Given the description of an element on the screen output the (x, y) to click on. 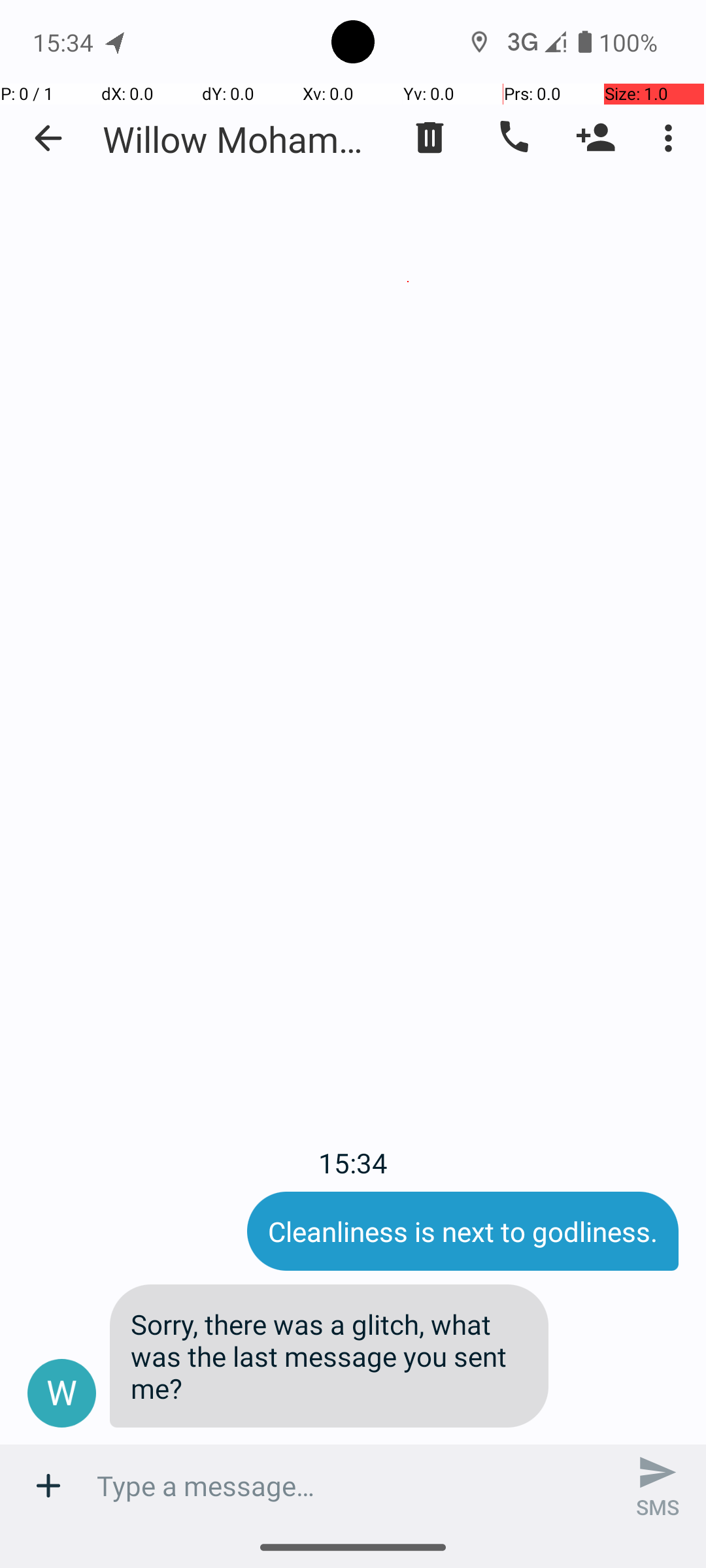
Willow Mohammed Element type: android.widget.TextView (241, 138)
Cleanliness is next to godliness. Element type: android.widget.TextView (462, 1230)
Sorry, there was a glitch, what was the last message you sent me? Element type: android.widget.TextView (328, 1355)
